Given the description of an element on the screen output the (x, y) to click on. 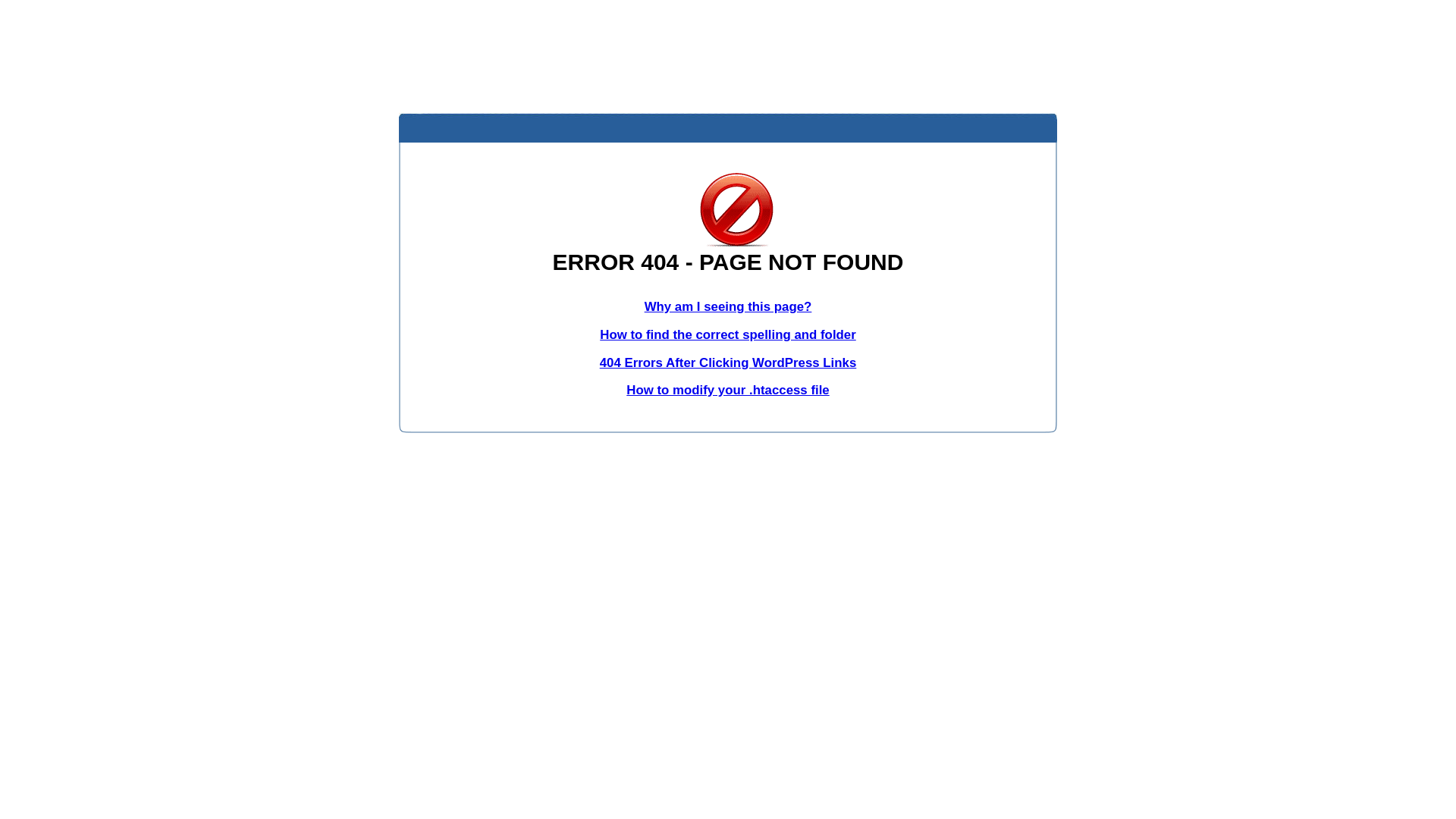
404 Errors After Clicking WordPress Links Element type: text (727, 362)
How to find the correct spelling and folder Element type: text (727, 334)
Why am I seeing this page? Element type: text (728, 306)
How to modify your .htaccess file Element type: text (727, 389)
